Given the description of an element on the screen output the (x, y) to click on. 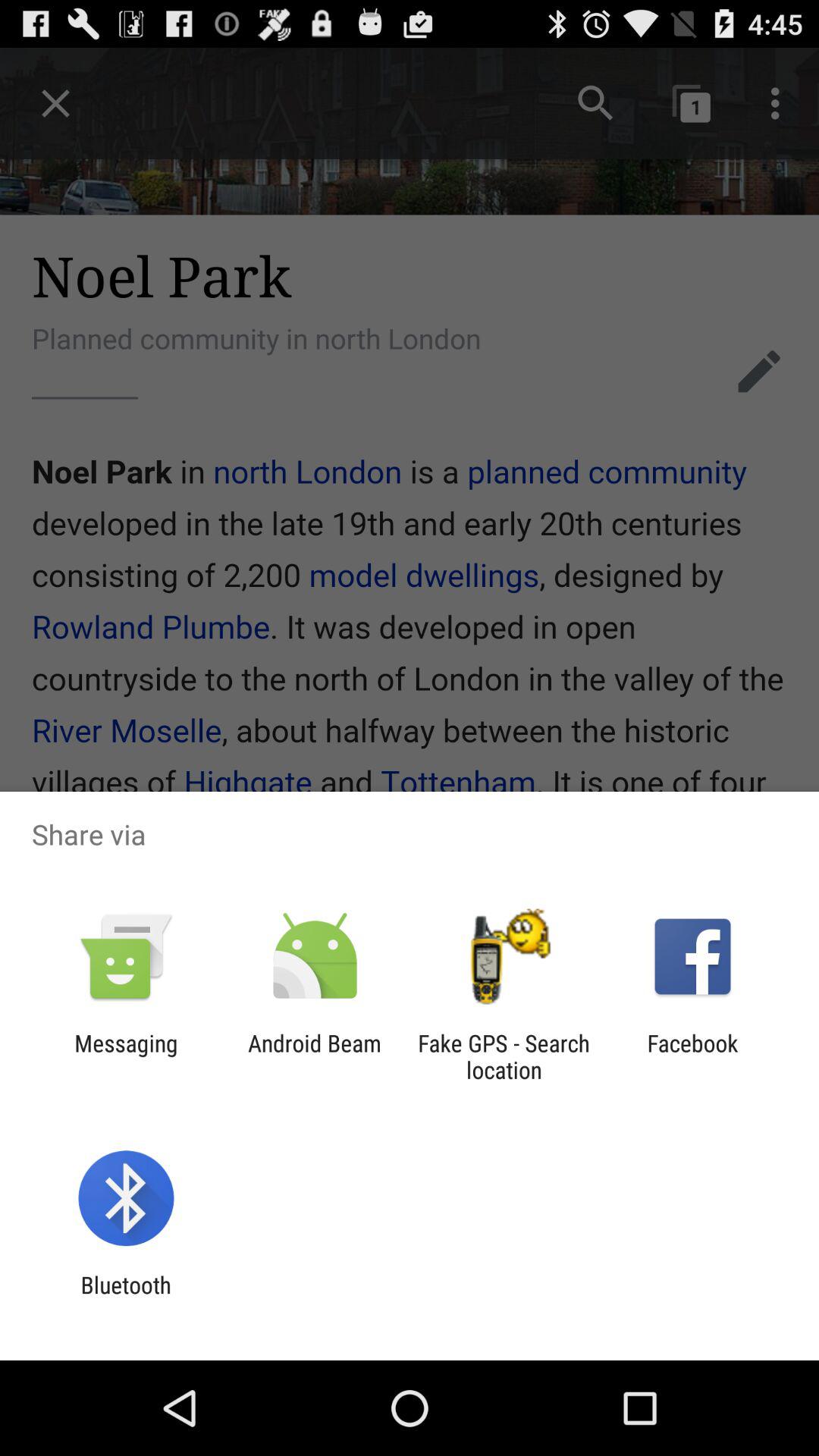
click fake gps search icon (503, 1056)
